Given the description of an element on the screen output the (x, y) to click on. 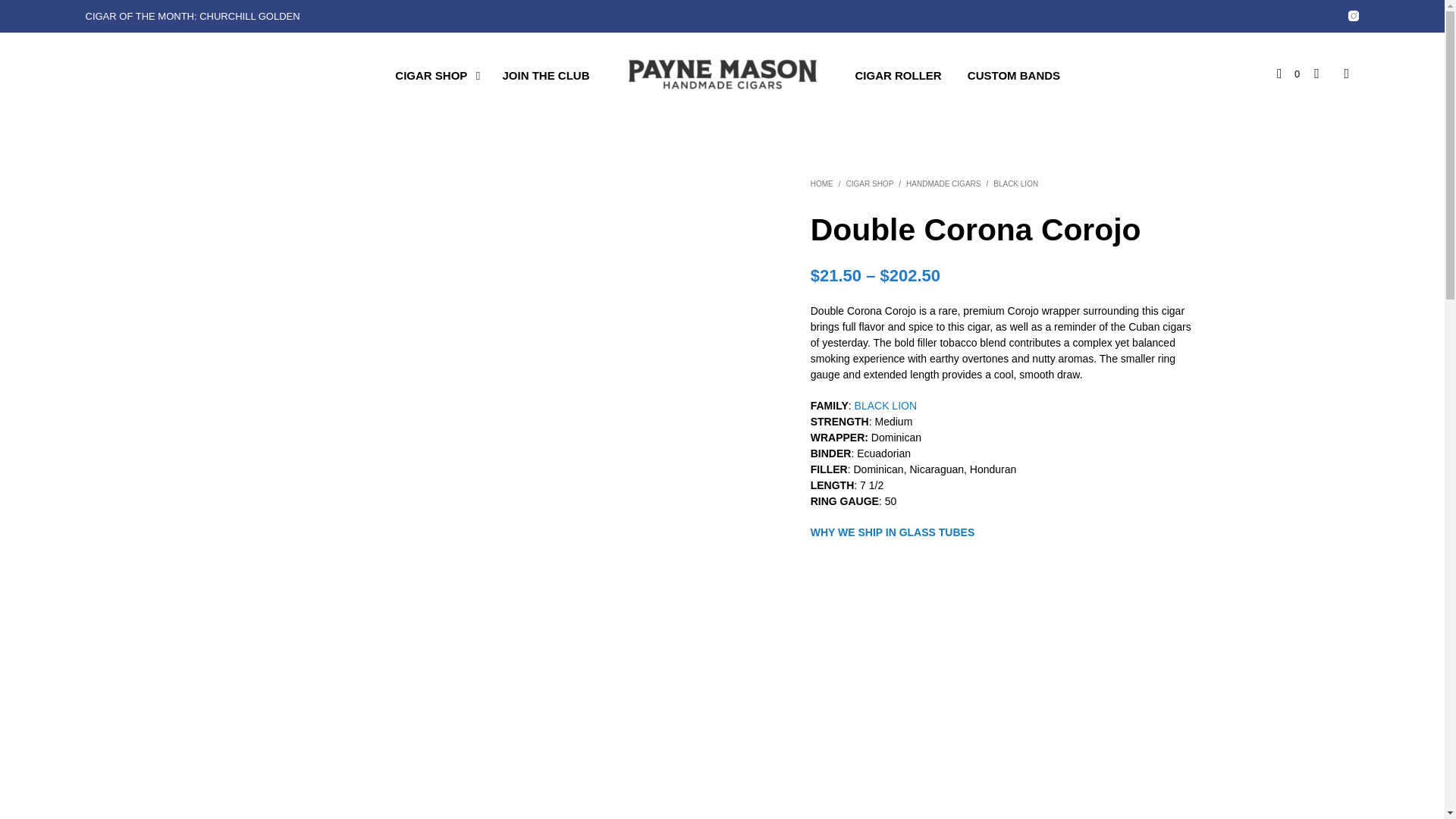
CIGAR SHOP (869, 183)
CIGAR ROLLER (897, 76)
JOIN THE CLUB (544, 76)
WHY WE SHIP IN GLASS TUBES (892, 532)
0 (1288, 73)
CIGAR SHOP (431, 76)
CUSTOM BANDS (1013, 76)
CIGAR OF THE MONTH: CHURCHILL GOLDEN (191, 16)
HANDMADE CIGARS (942, 183)
BLACK LION (1015, 183)
